Given the description of an element on the screen output the (x, y) to click on. 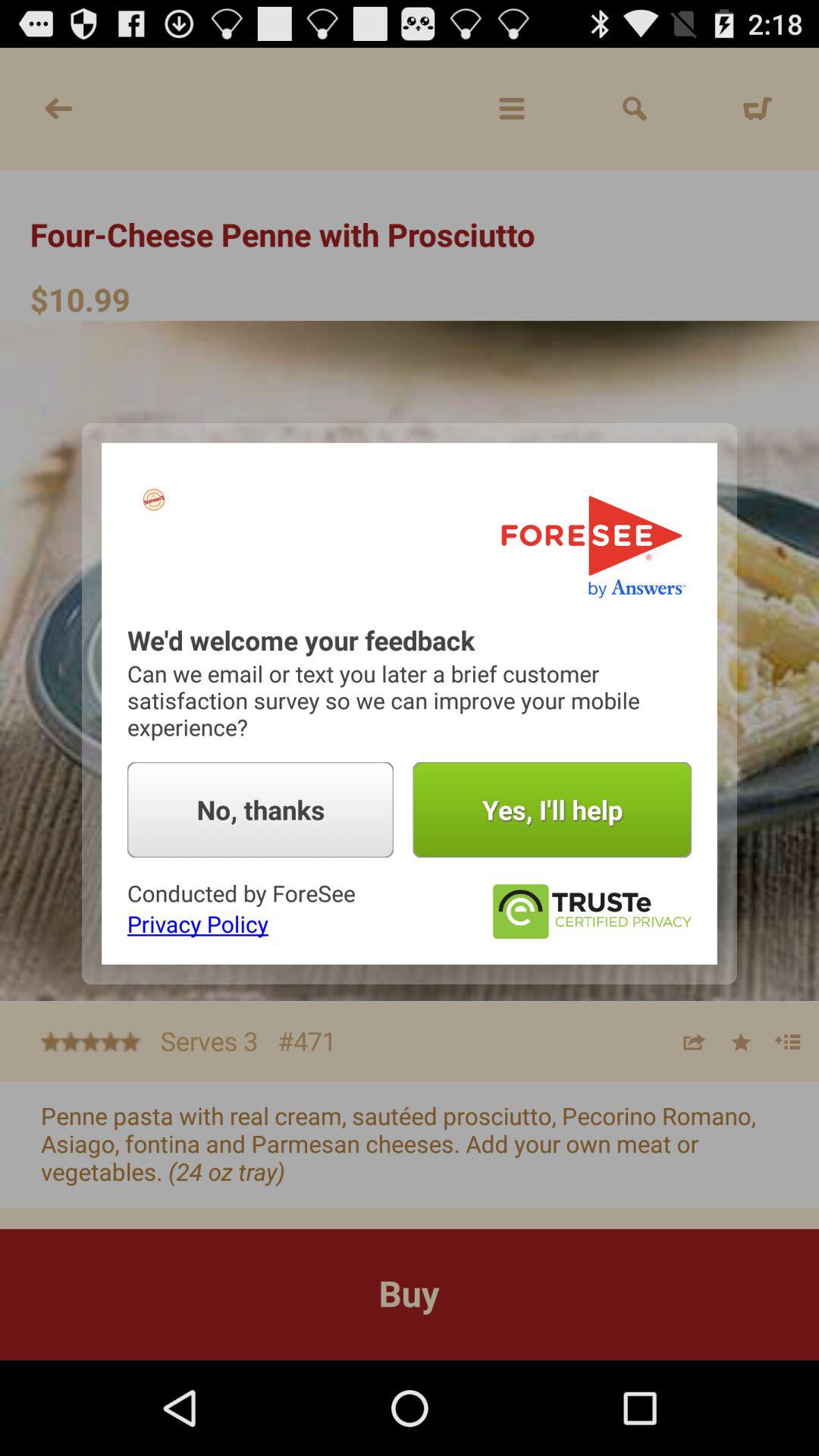
launch the button below yes i ll (591, 911)
